Given the description of an element on the screen output the (x, y) to click on. 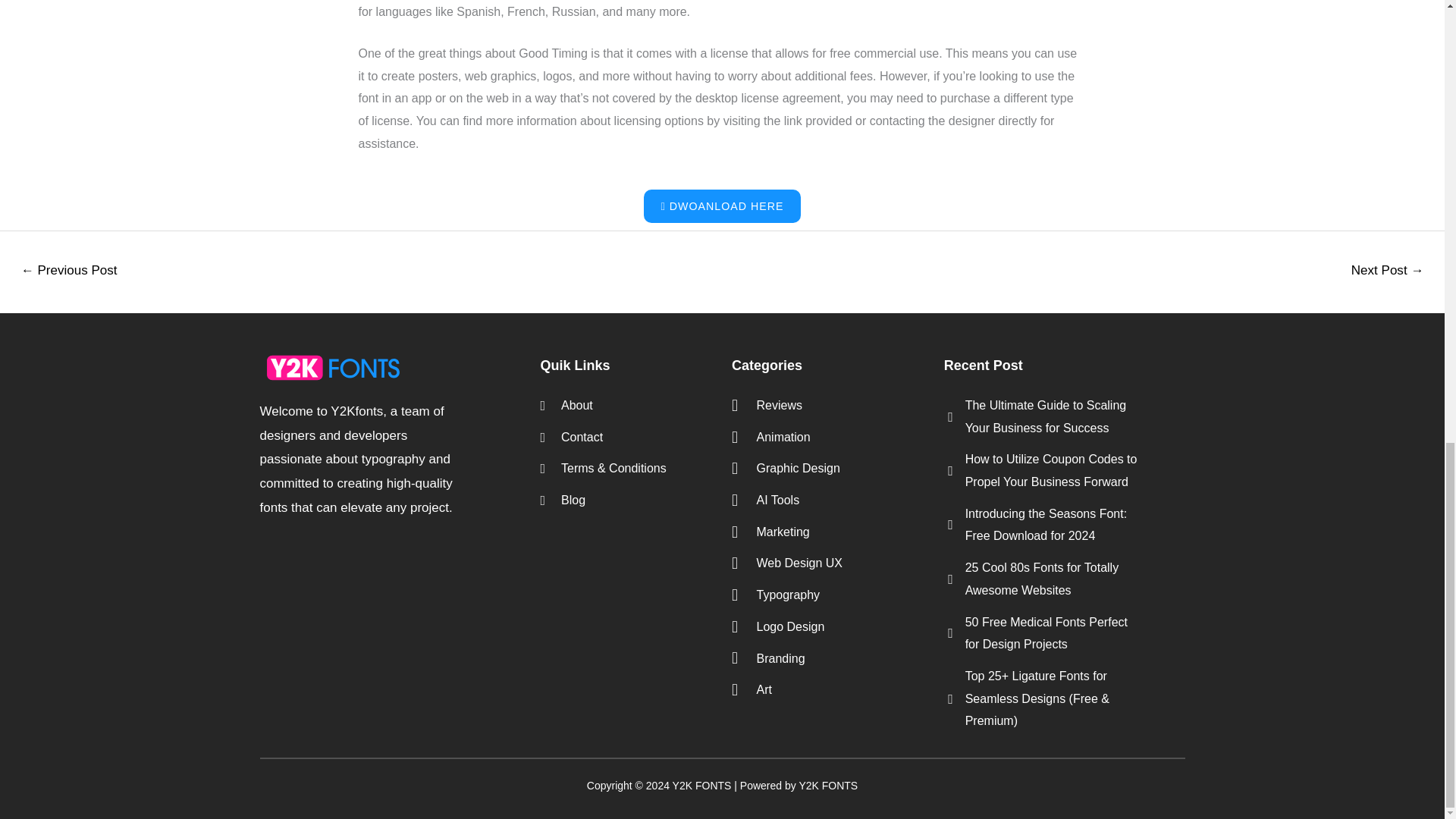
DWOANLOAD HERE (722, 205)
